Given the description of an element on the screen output the (x, y) to click on. 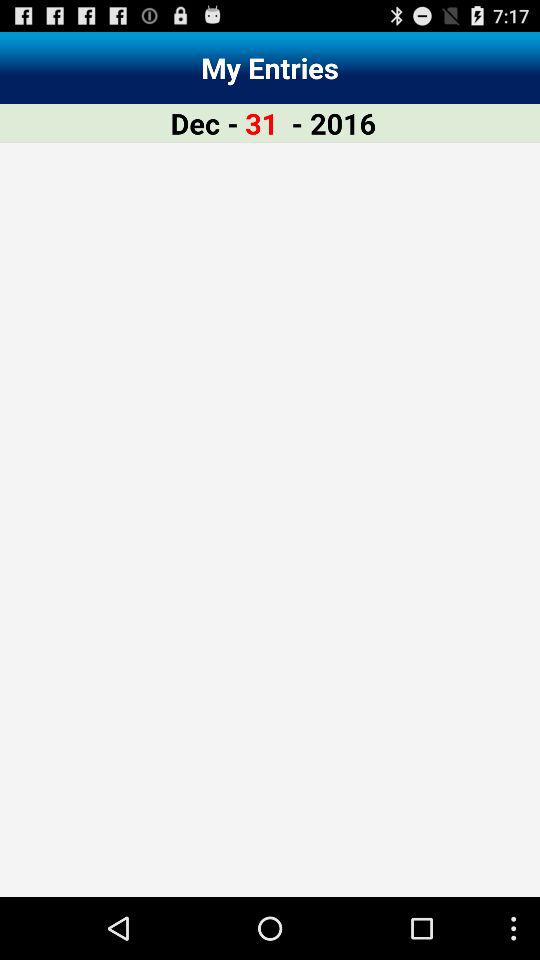
launch item next to 31 item (333, 122)
